Given the description of an element on the screen output the (x, y) to click on. 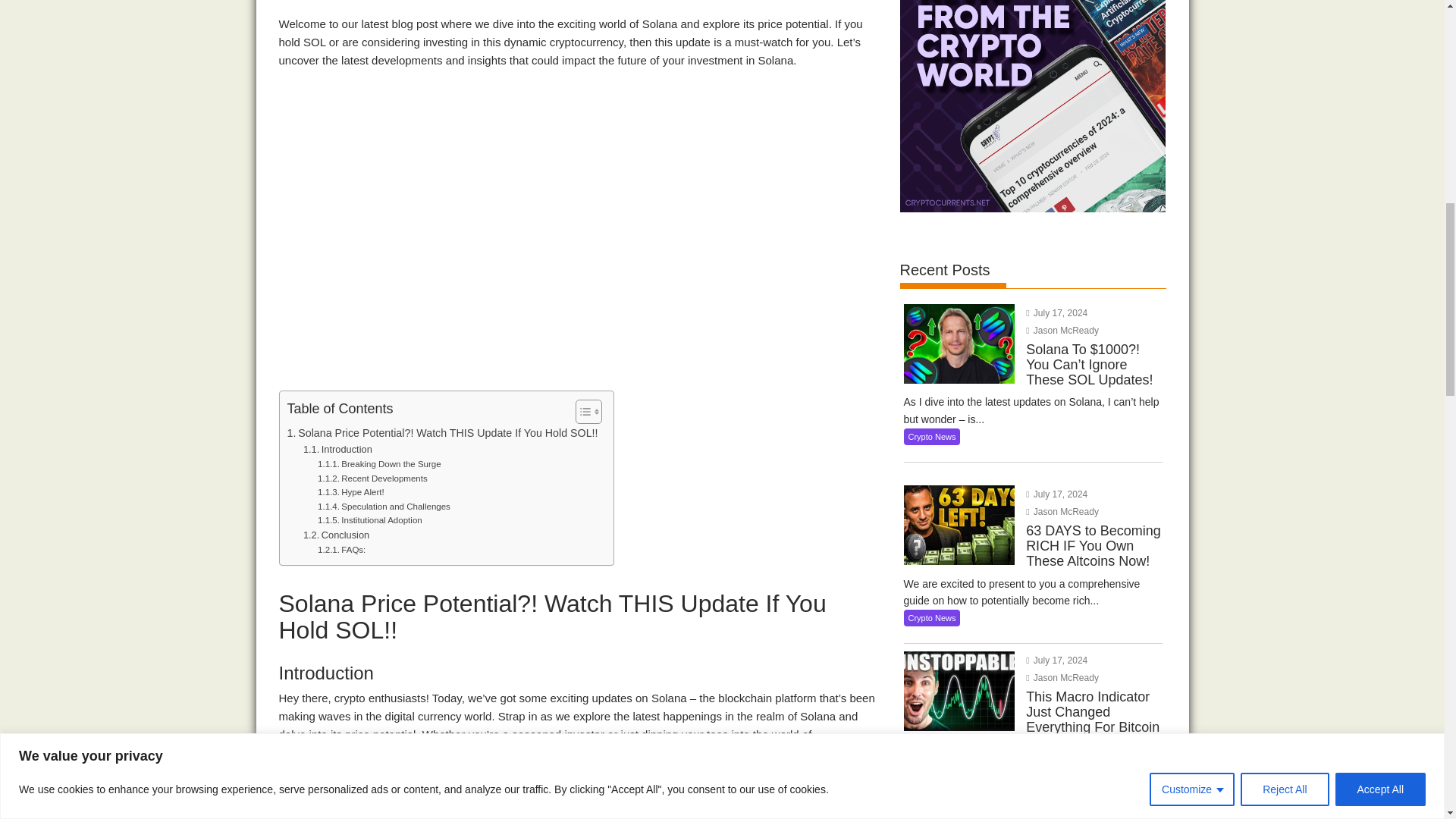
Hype Alert! (350, 491)
Speculation and Challenges (383, 506)
Recent Developments (372, 478)
Institutional Adoption (369, 520)
Solana Price Potential?! Watch THIS Update If You Hold SOL!! (441, 433)
Breaking Down the Surge (379, 463)
Introduction (337, 449)
